Given the description of an element on the screen output the (x, y) to click on. 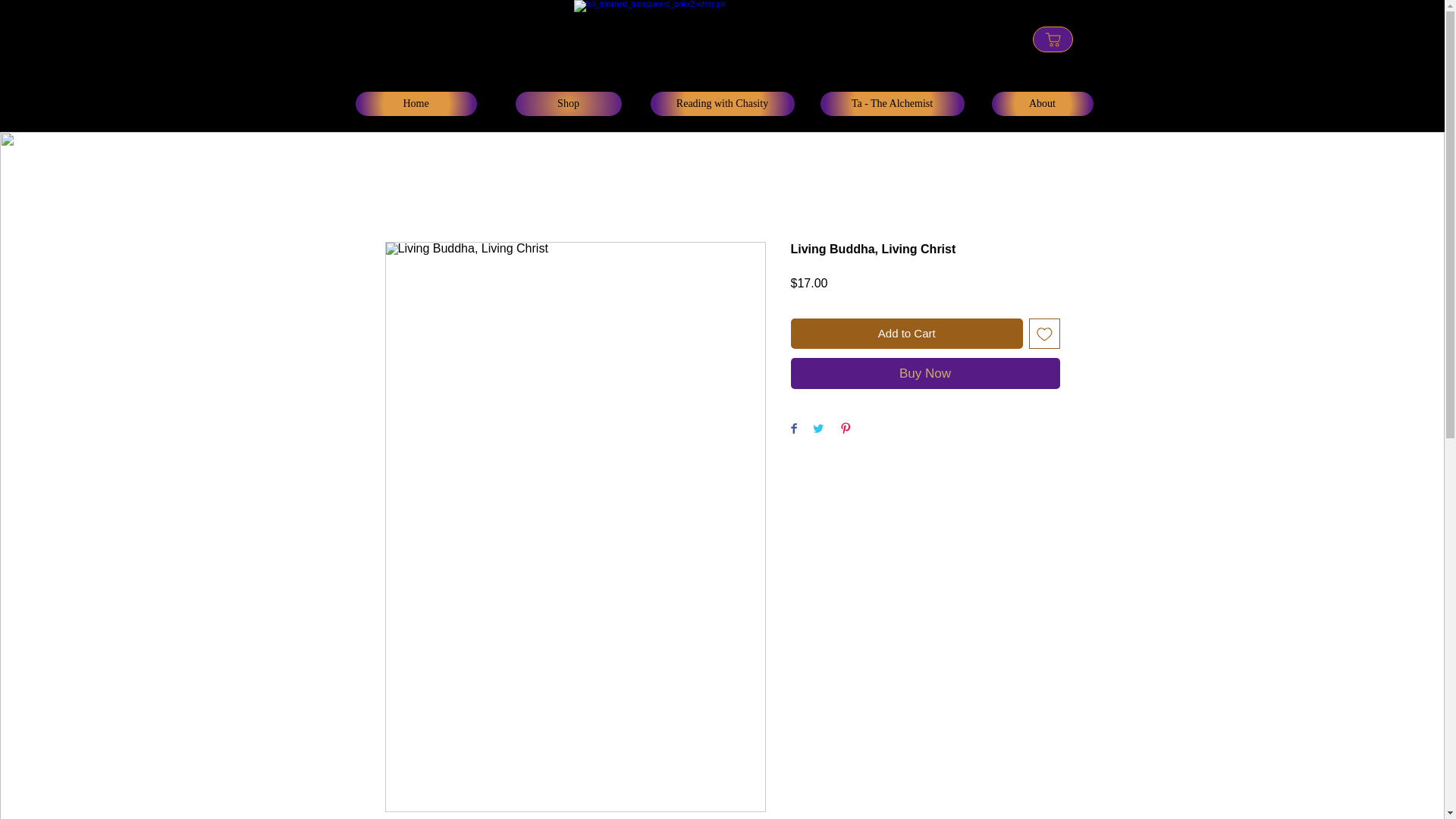
Home (416, 103)
About (1041, 103)
Ta - The Alchemist (890, 103)
Buy Now (924, 373)
Reading with Chasity (721, 103)
Shop (567, 103)
Add to Cart (906, 333)
